Given the description of an element on the screen output the (x, y) to click on. 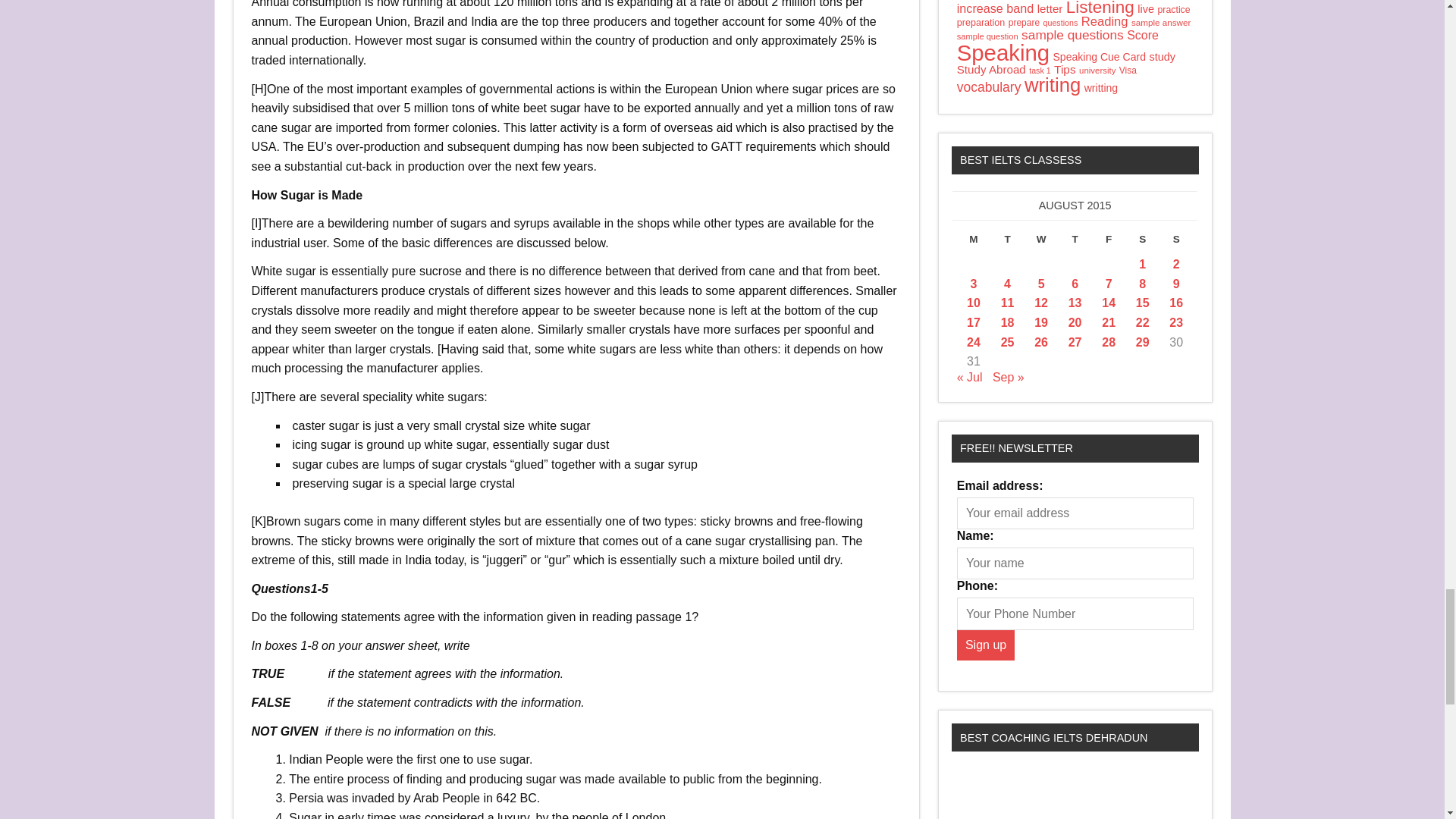
Thursday (1075, 242)
Saturday (1141, 242)
Tuesday (1007, 242)
Monday (973, 242)
Friday (1108, 242)
Sign up (985, 644)
Wednesday (1041, 242)
